Given the description of an element on the screen output the (x, y) to click on. 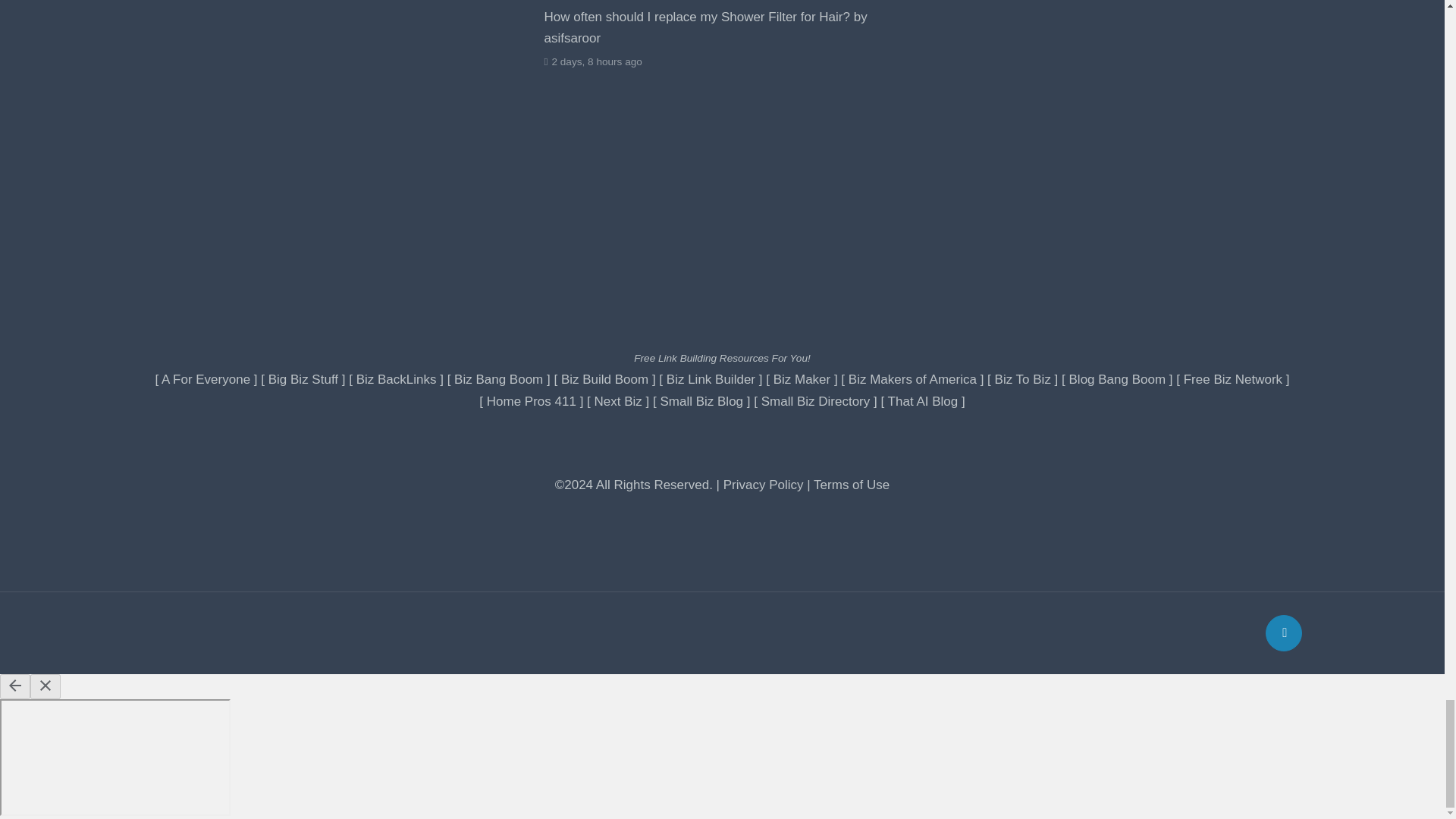
Biz Maker - FREE Link building. (802, 379)
A For Everyone - FREE Link building. (205, 379)
Biz Build Boom - FREE Link building. (603, 379)
View asifsaroor's profile (713, 27)
Biz Link Builder - FREE Link building. (710, 379)
Biz Bang Boom - FREE Link building. (498, 379)
Biz BackLinks - FREE Link building. (396, 379)
Big Biz Stuff - FREE Link building. (302, 379)
